Given the description of an element on the screen output the (x, y) to click on. 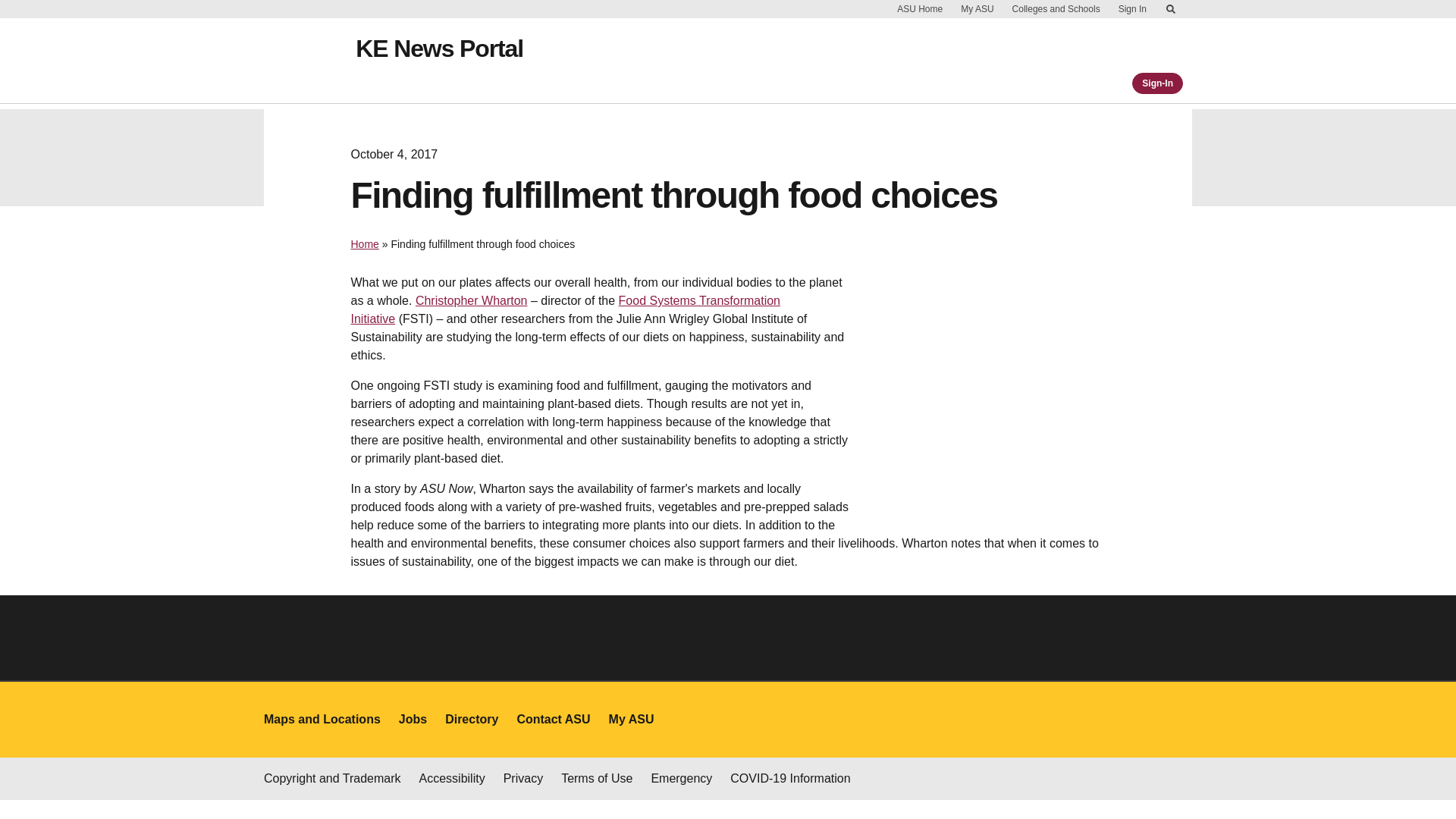
ASU Home (920, 8)
Christopher Wharton (470, 300)
Sign In (1132, 8)
Sign-In (1157, 83)
My ASU (976, 8)
ASU home (314, 60)
Food Systems Transformation Initiative (565, 309)
Skip to Content (1170, 8)
Home (364, 244)
Colleges and Schools (1056, 8)
